Given the description of an element on the screen output the (x, y) to click on. 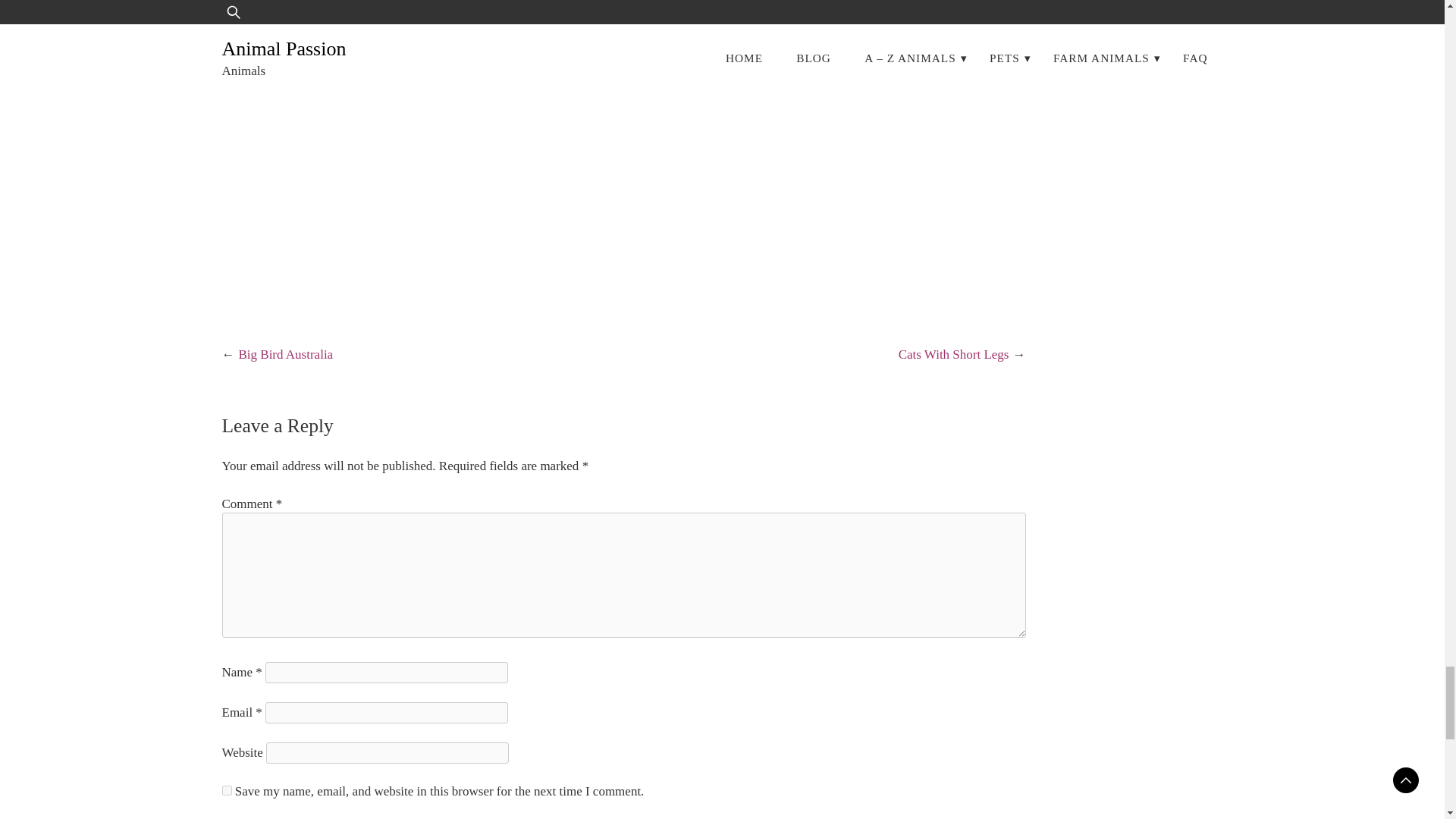
yes (226, 790)
Big Bird Australia (285, 354)
